Given the description of an element on the screen output the (x, y) to click on. 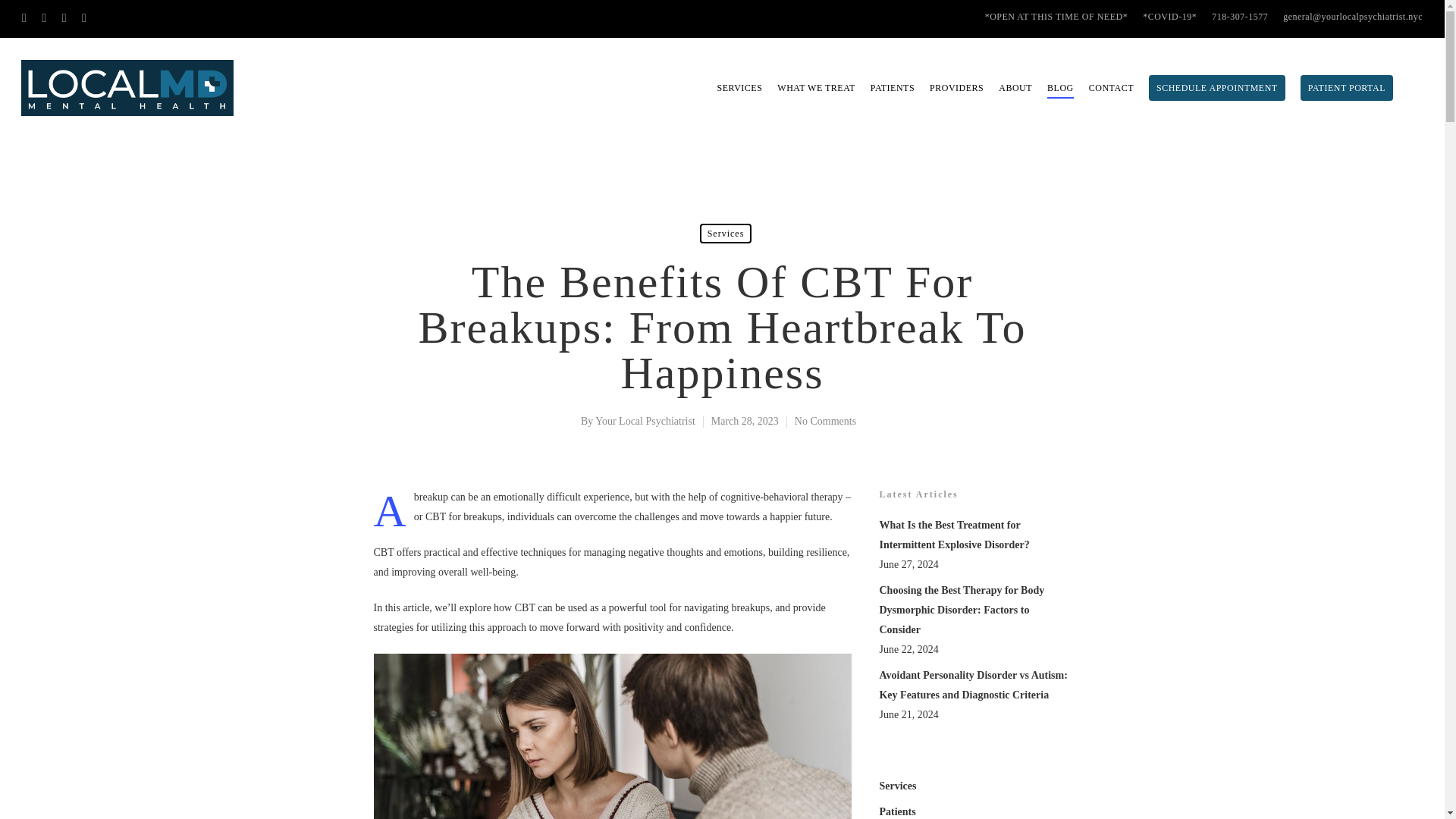
PATIENT PORTAL (1346, 87)
Your Local Psychiatrist (645, 420)
Posts by Your Local Psychiatrist (645, 420)
718-307-1577 (1239, 16)
PROVIDERS (957, 87)
No Comments (825, 420)
ABOUT (1015, 87)
SERVICES (739, 87)
WHAT WE TREAT (816, 87)
Services (726, 233)
BLOG (1060, 87)
SCHEDULE APPOINTMENT (1216, 87)
PATIENTS (892, 87)
CONTACT (1111, 87)
